Given the description of an element on the screen output the (x, y) to click on. 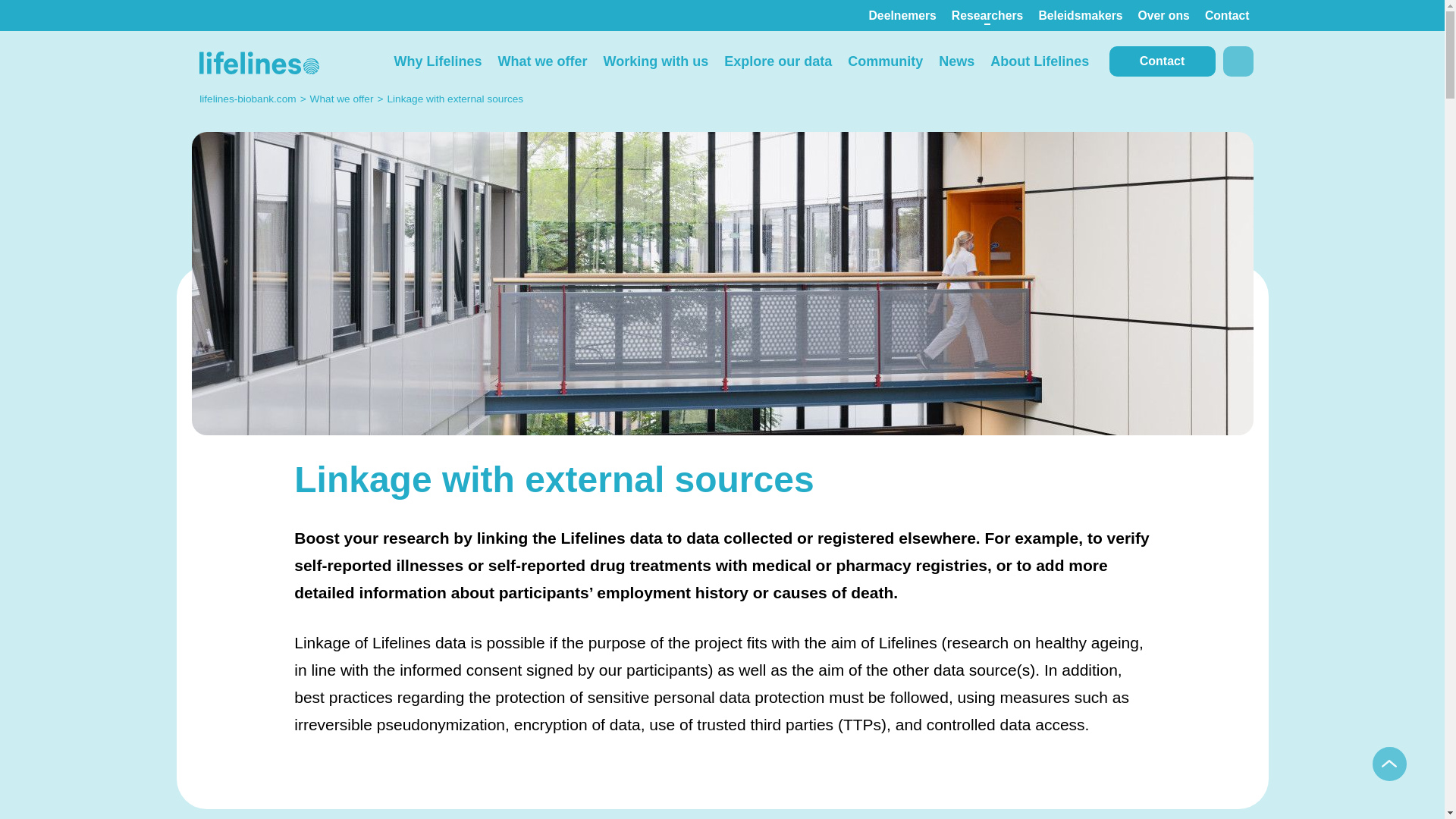
Over ons (1163, 15)
Explore our data (778, 61)
News (956, 61)
Linkage with external sources (454, 98)
Beleidsmakers (1079, 15)
Explore our data (778, 61)
Search (1237, 60)
What we offer (542, 61)
Researchers (986, 15)
Why Lifelines (437, 61)
Working with us (655, 61)
Contact (1226, 15)
Researchers (986, 15)
Why Lifelines (437, 61)
What we offer (342, 98)
